Given the description of an element on the screen output the (x, y) to click on. 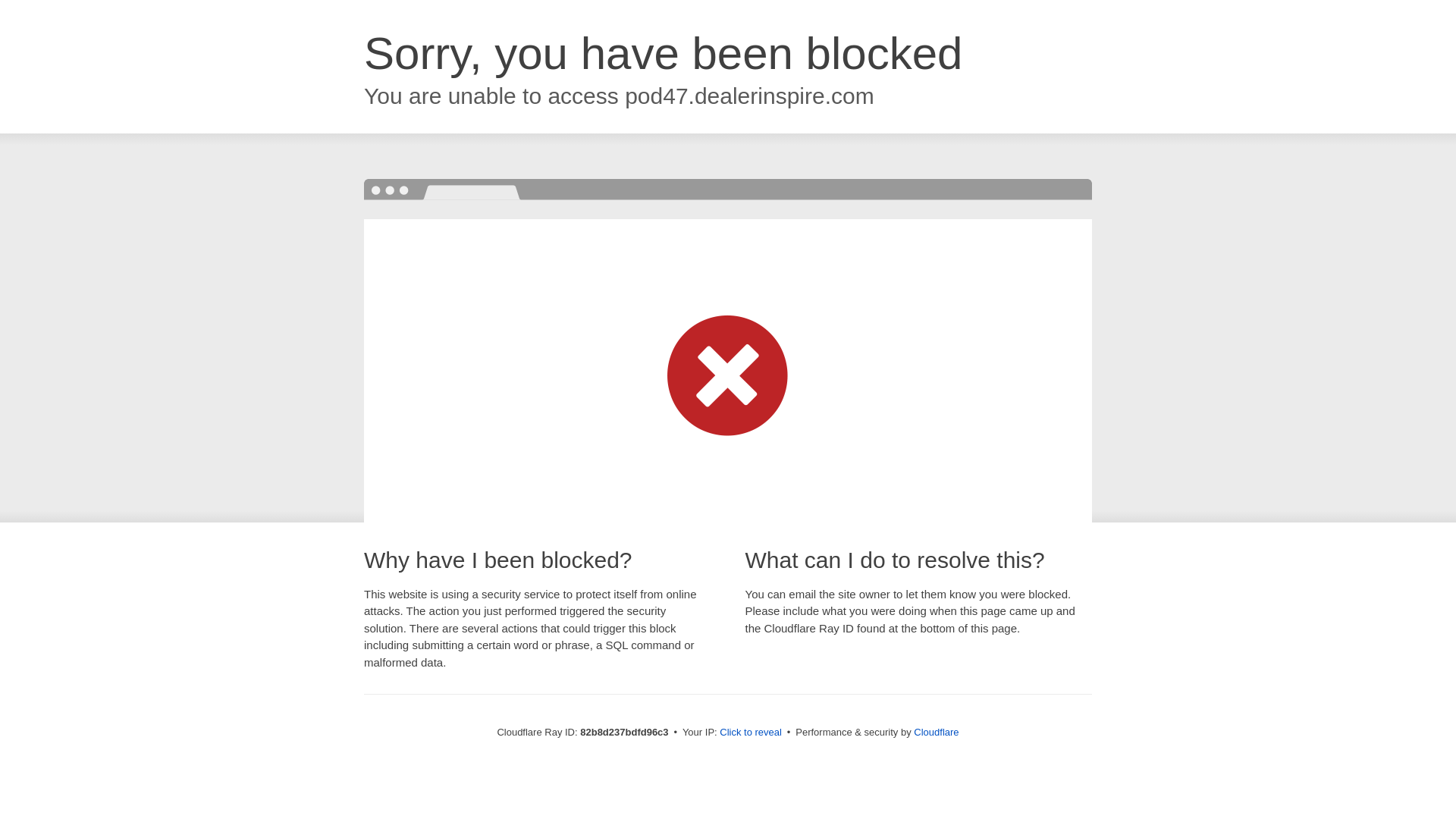
Click to reveal Element type: text (750, 732)
Cloudflare Element type: text (935, 731)
